Given the description of an element on the screen output the (x, y) to click on. 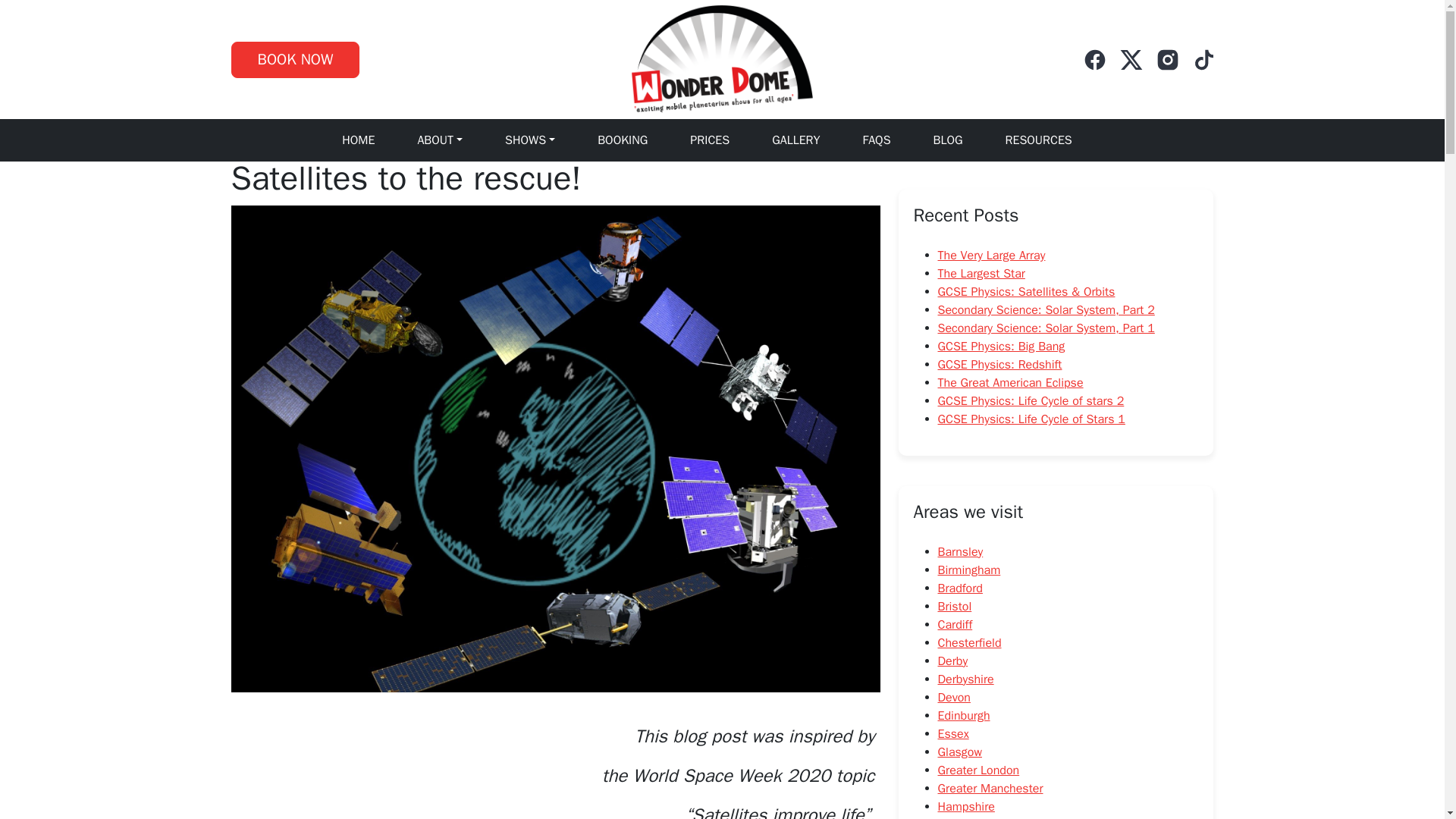
FAQS (876, 140)
ABOUT (439, 140)
GALLERY (795, 140)
RESOURCES (1038, 140)
BLOG (948, 140)
SHOWS (529, 140)
BOOK NOW (294, 58)
HOME (358, 140)
BOOKING (622, 140)
PRICES (709, 140)
